Given the description of an element on the screen output the (x, y) to click on. 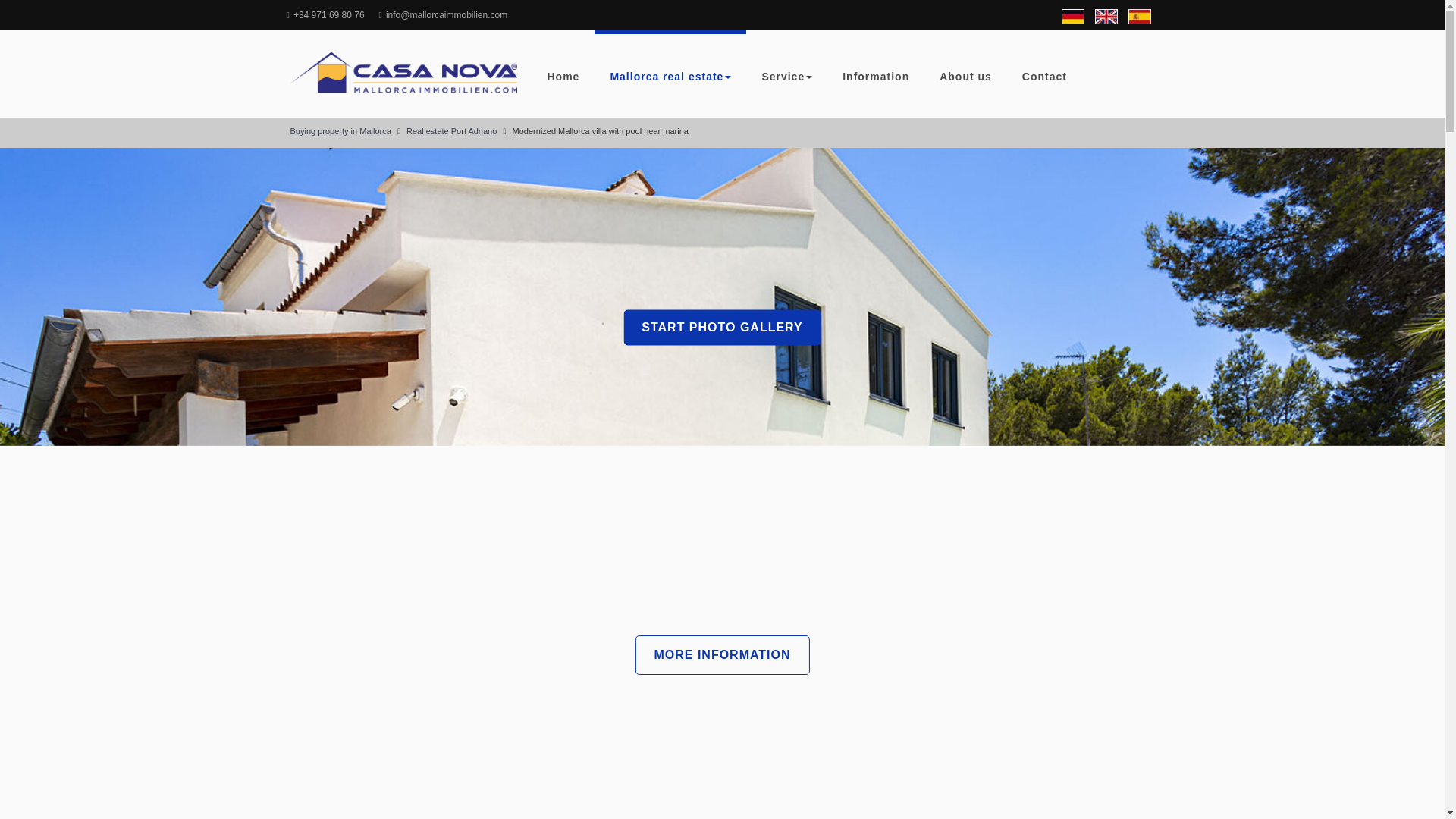
Immobilien Mallorca auf Deutsch (1072, 16)
Mallorca real estate (669, 73)
Service (786, 73)
Real estate Mallorca in English (1106, 16)
Information (875, 73)
Buying property in Mallorca (339, 130)
About us (965, 73)
